Given the description of an element on the screen output the (x, y) to click on. 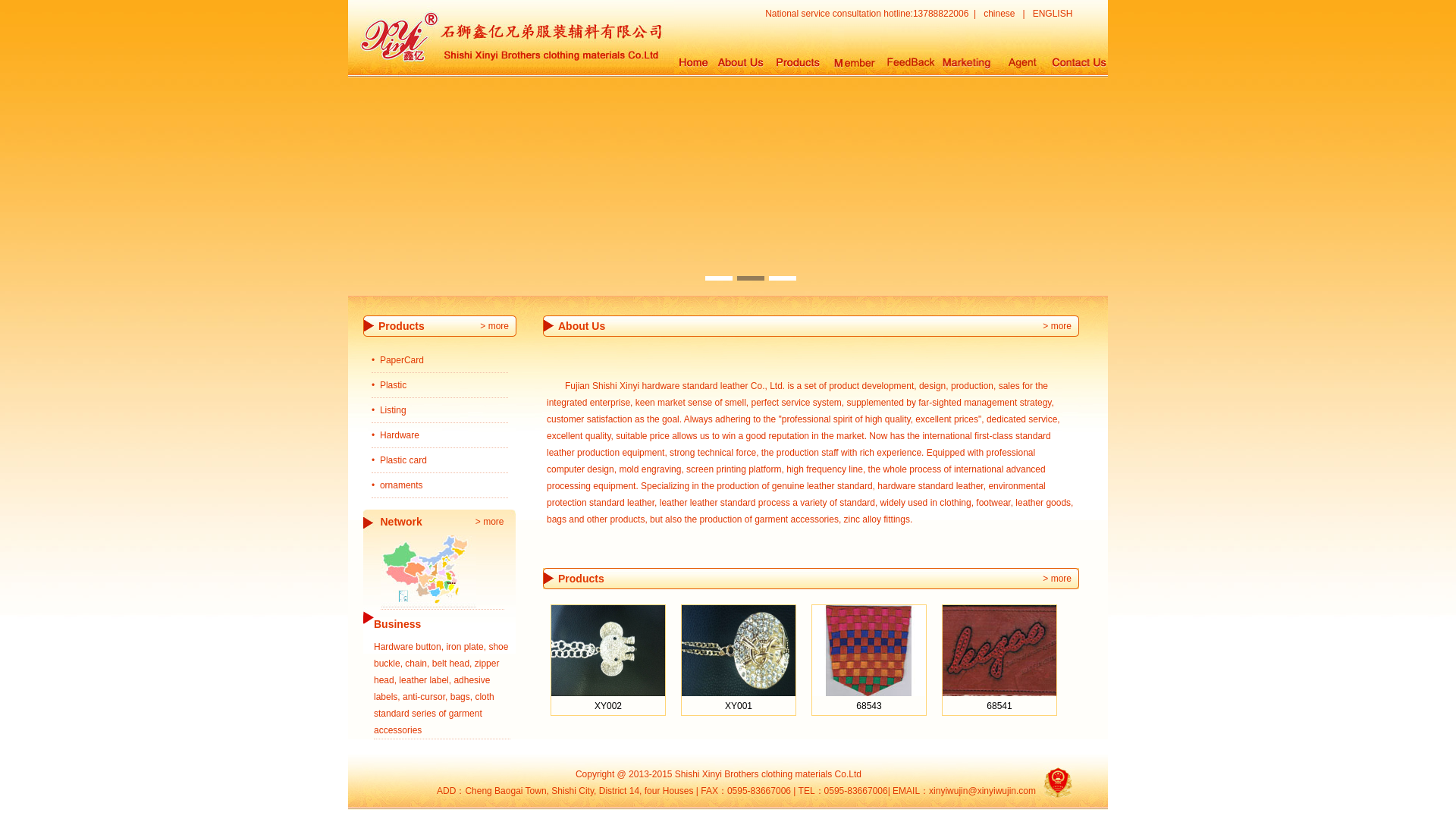
68541 (999, 706)
Plastic card (403, 460)
ENGLISH (1052, 12)
Listing (393, 409)
Plastic (393, 385)
more (1061, 326)
more (497, 326)
68543 (868, 706)
chinese (999, 12)
PaperCard (401, 359)
XY001 (738, 706)
more (493, 521)
more (1061, 578)
ornaments (401, 484)
Hardware (399, 434)
